Given the description of an element on the screen output the (x, y) to click on. 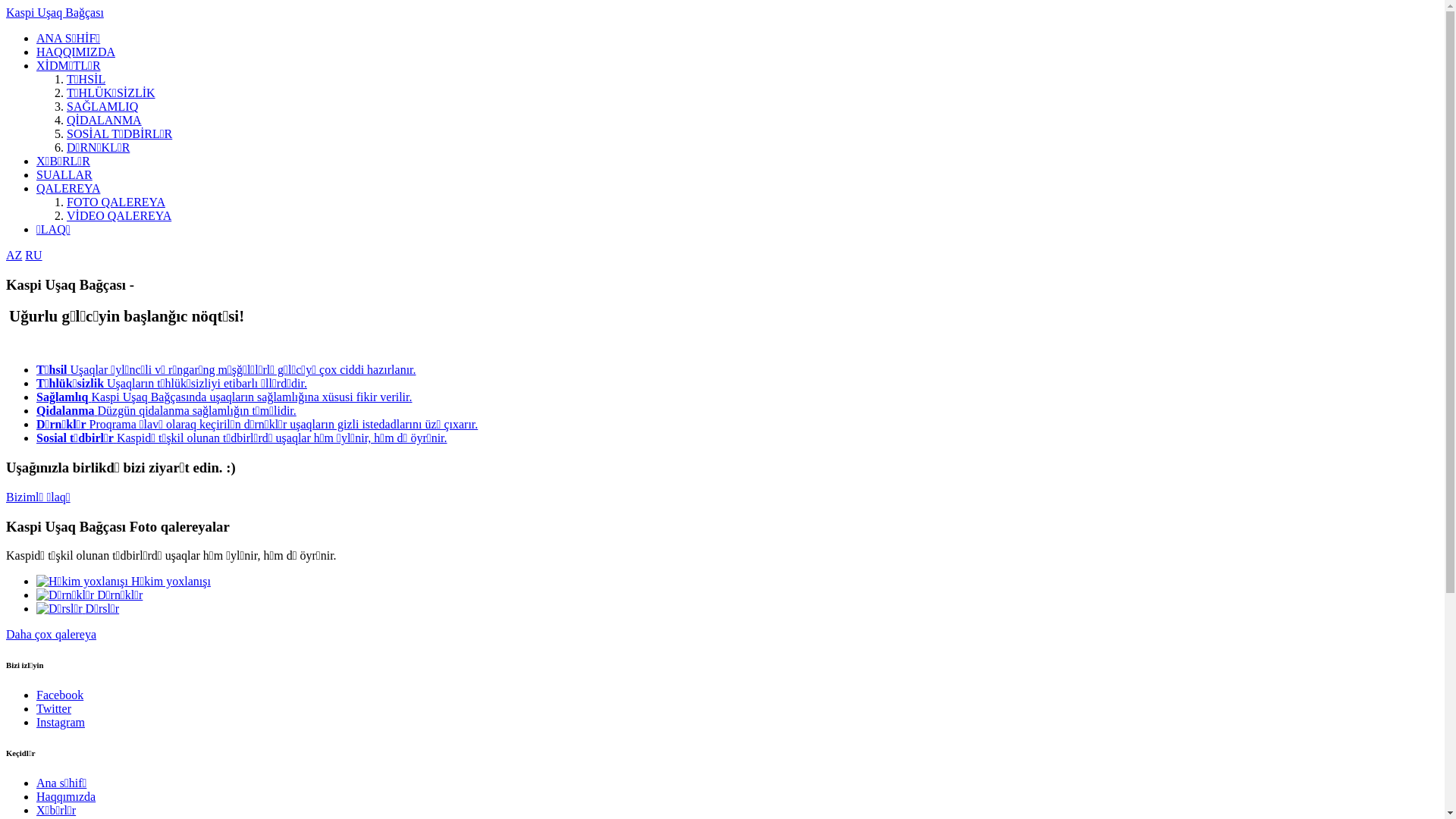
Instagram Element type: text (60, 721)
Facebook Element type: text (59, 694)
SUALLAR Element type: text (64, 174)
RU Element type: text (33, 254)
FOTO QALEREYA Element type: text (115, 201)
HAQQIMIZDA Element type: text (75, 51)
Twitter Element type: text (53, 708)
AZ Element type: text (13, 254)
QALEREYA Element type: text (68, 188)
